Given the description of an element on the screen output the (x, y) to click on. 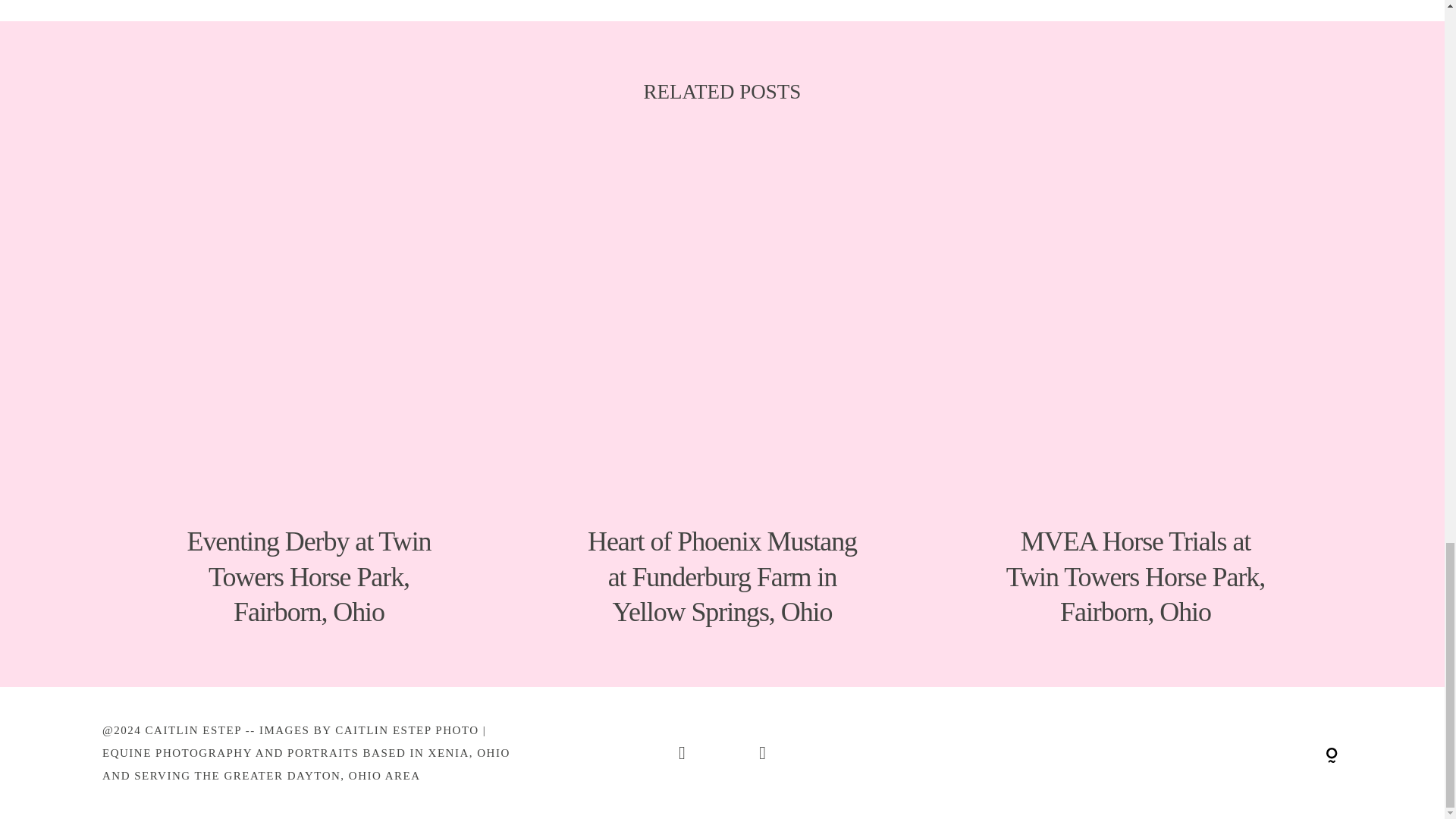
Sorry, your browser does not support inline SVG. (1135, 752)
Sorry, your browser does not support inline SVG. (1331, 755)
CAITLIN ESTEP PHOTO (406, 729)
